Given the description of an element on the screen output the (x, y) to click on. 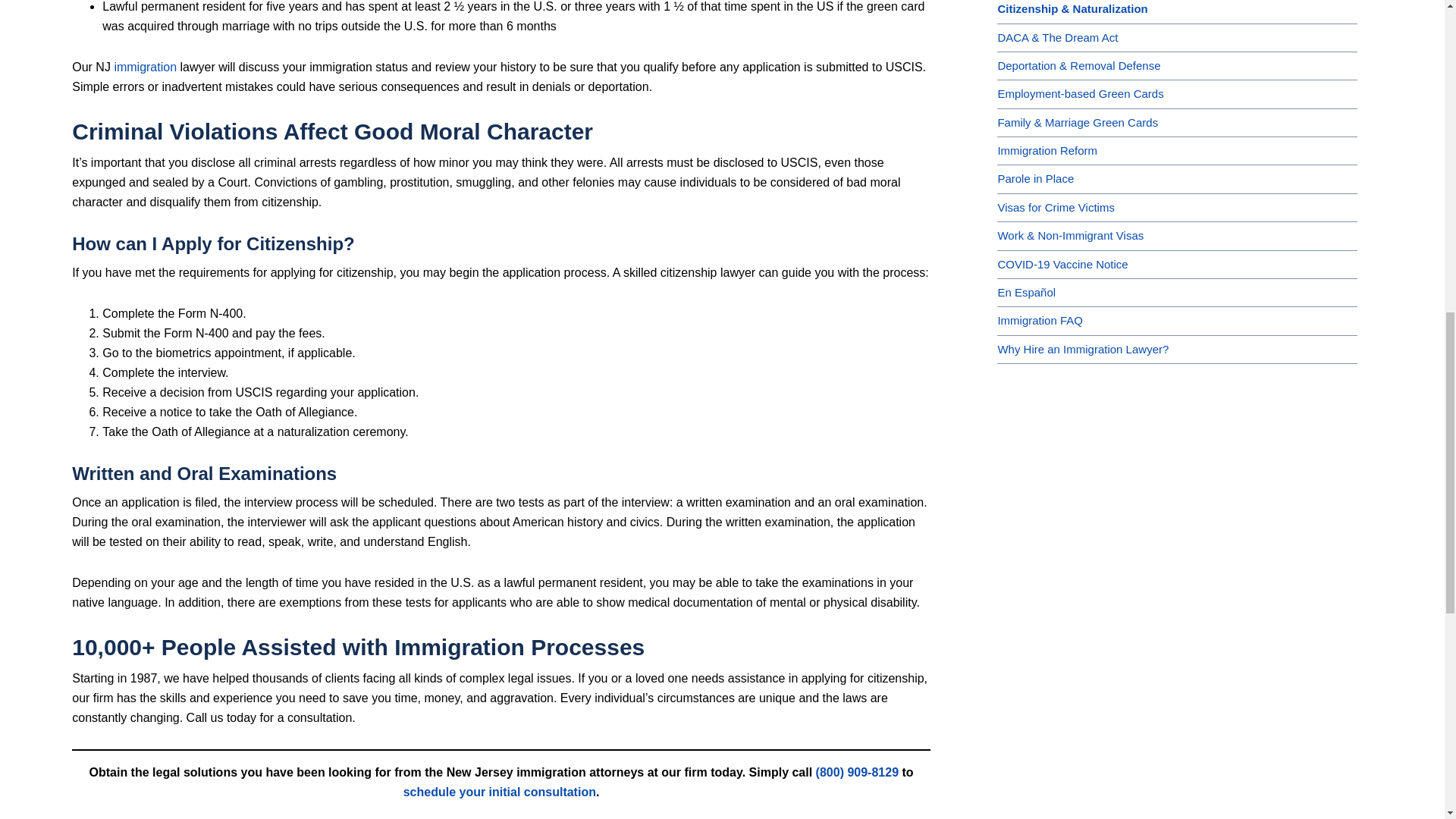
COVID-19 Vaccine Notice (1061, 264)
Visas for Crime Victims (1055, 206)
Parole in Place (1035, 178)
Employment-based Green Cards (1080, 92)
Immigration Reform (1047, 150)
immigration (144, 66)
Immigration FAQ (1040, 319)
schedule your initial consultation (499, 791)
